Given the description of an element on the screen output the (x, y) to click on. 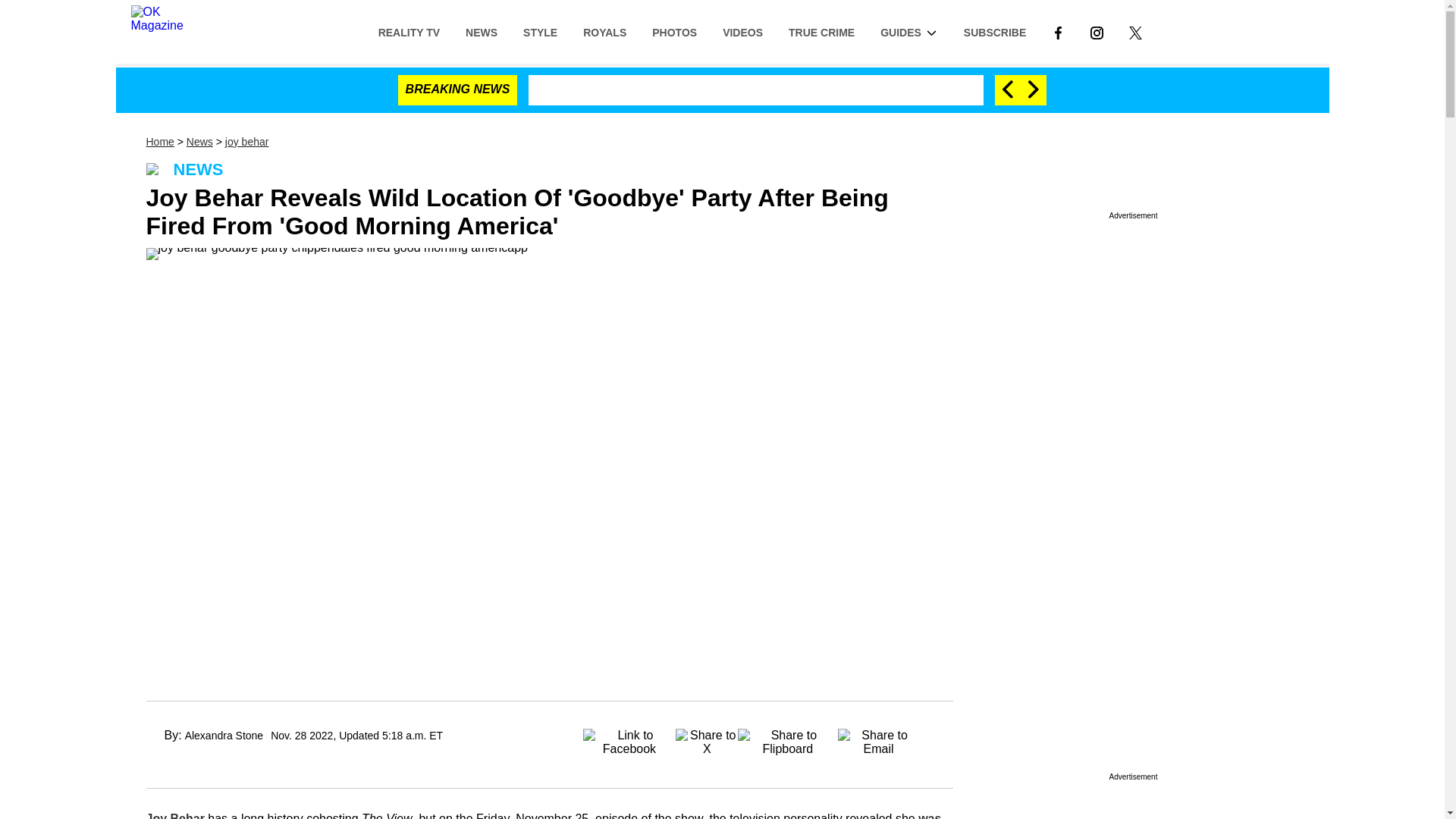
NEWS (481, 31)
LINK TO INSTAGRAM (1096, 31)
LINK TO INSTAGRAM (1096, 32)
LINK TO X (1135, 31)
TRUE CRIME (821, 31)
Alexandra Stone (223, 735)
PHOTOS (674, 31)
Share to Email (879, 737)
LINK TO X (1135, 32)
LINK TO FACEBOOK (1058, 31)
